Given the description of an element on the screen output the (x, y) to click on. 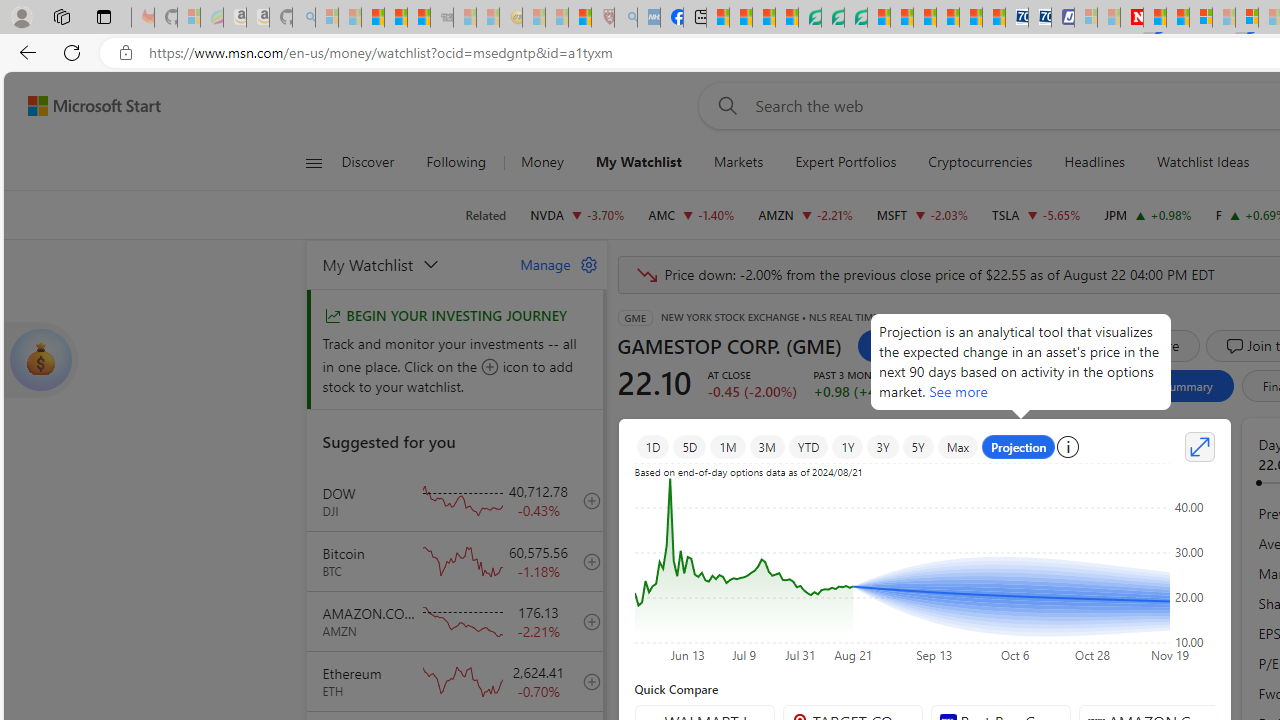
Skip to footer (82, 105)
Expert Portfolios (845, 162)
World - MSN (763, 17)
AMZN AMAZON.COM, INC. decrease 176.13 -3.98 -2.21% (805, 214)
Markets (738, 162)
Microsoft Start - Sleeping (1108, 17)
list of asthma inhalers uk - Search - Sleeping (625, 17)
Money (541, 162)
5D (689, 446)
